Given the description of an element on the screen output the (x, y) to click on. 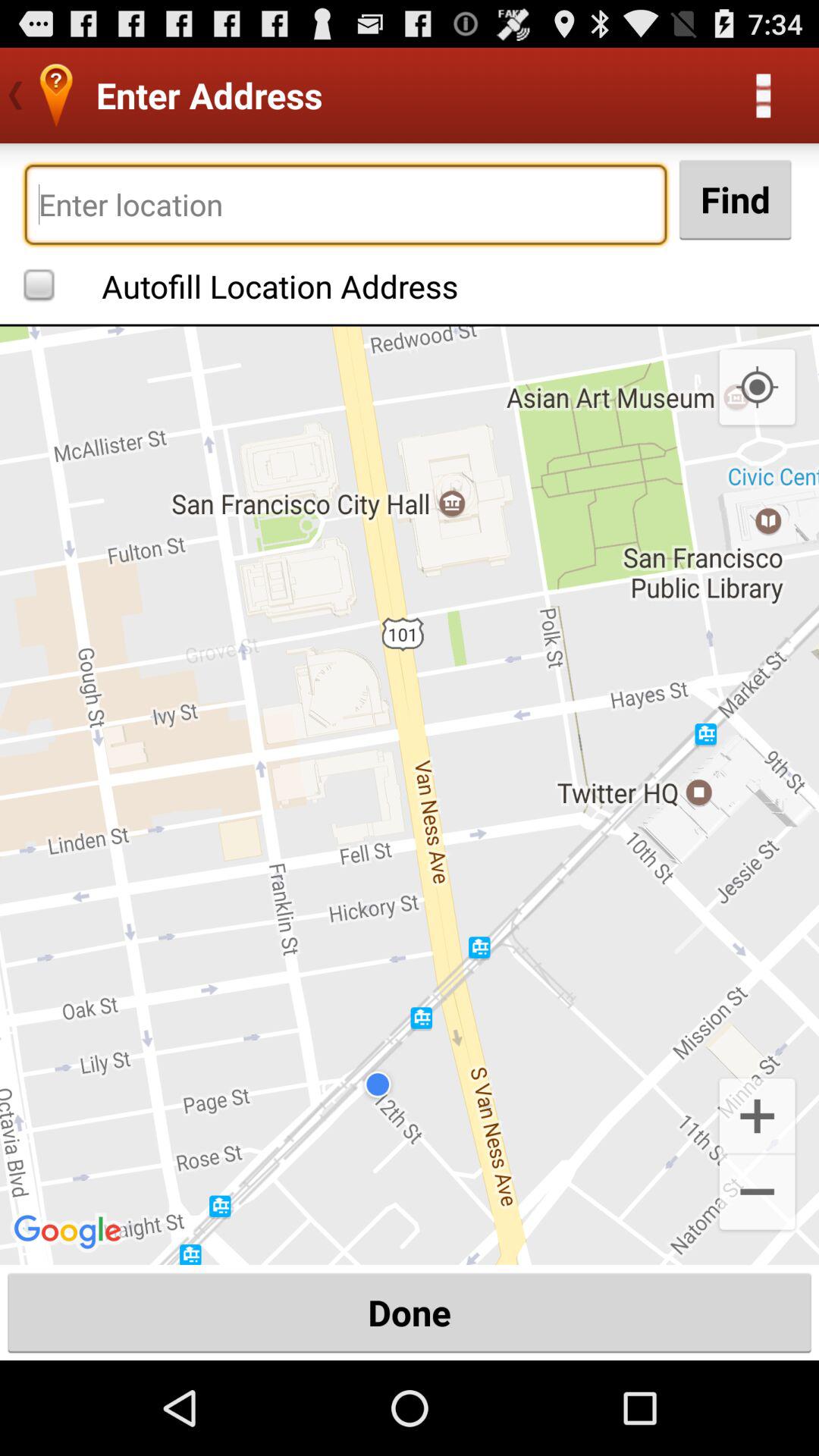
search location (345, 204)
